Given the description of an element on the screen output the (x, y) to click on. 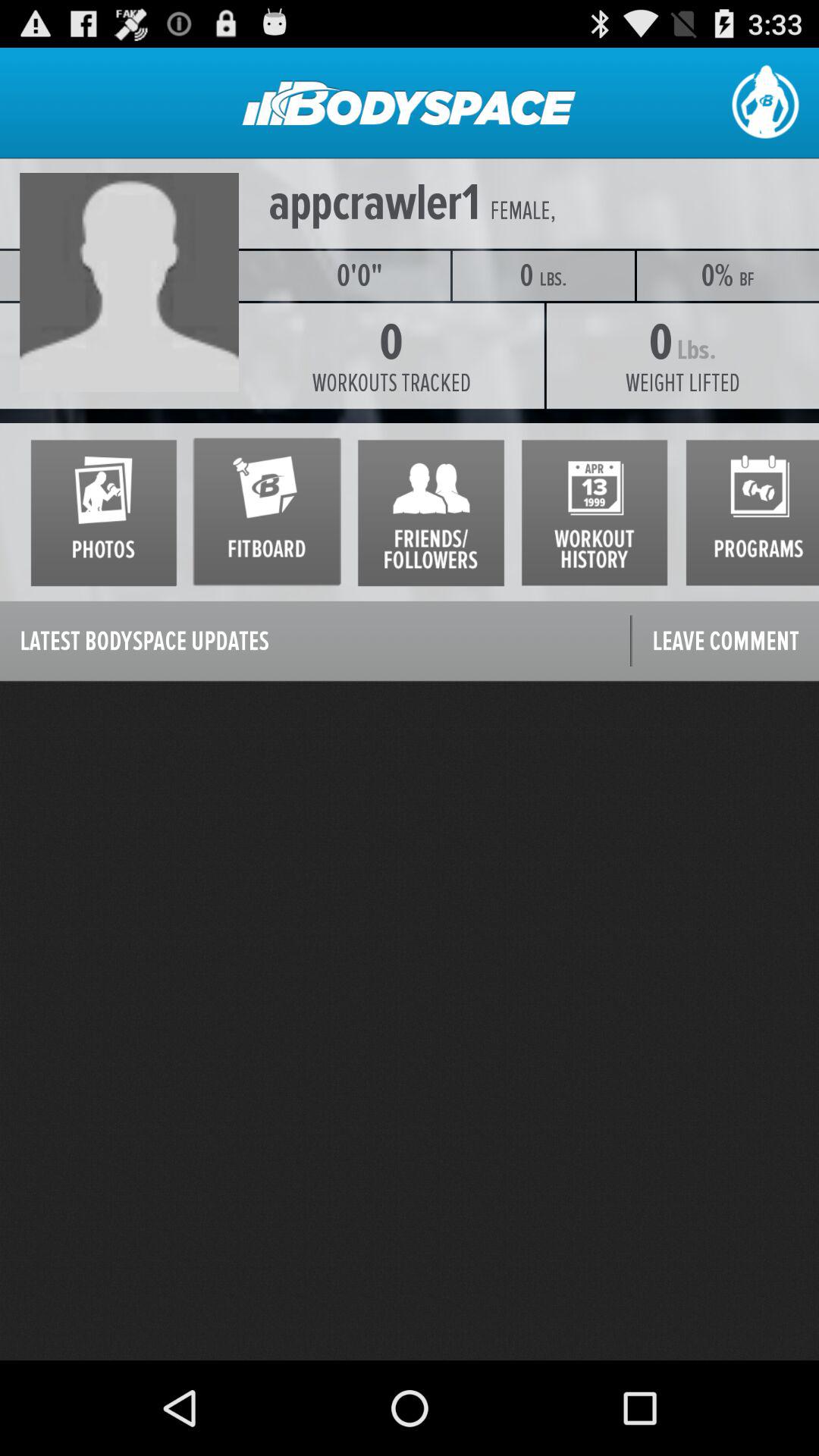
open icon to the left of 0'0" icon (134, 275)
